Given the description of an element on the screen output the (x, y) to click on. 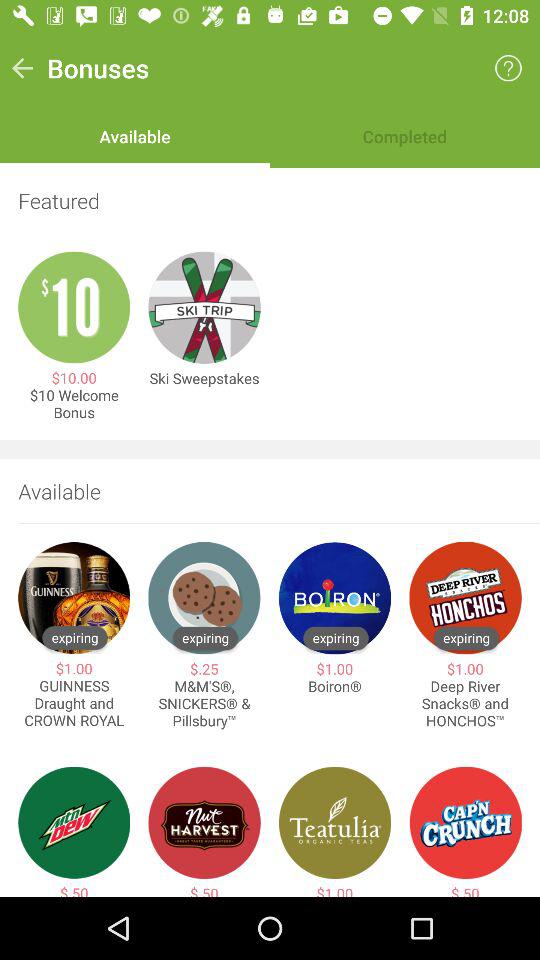
press the icon to the right of m m s item (334, 686)
